Given the description of an element on the screen output the (x, y) to click on. 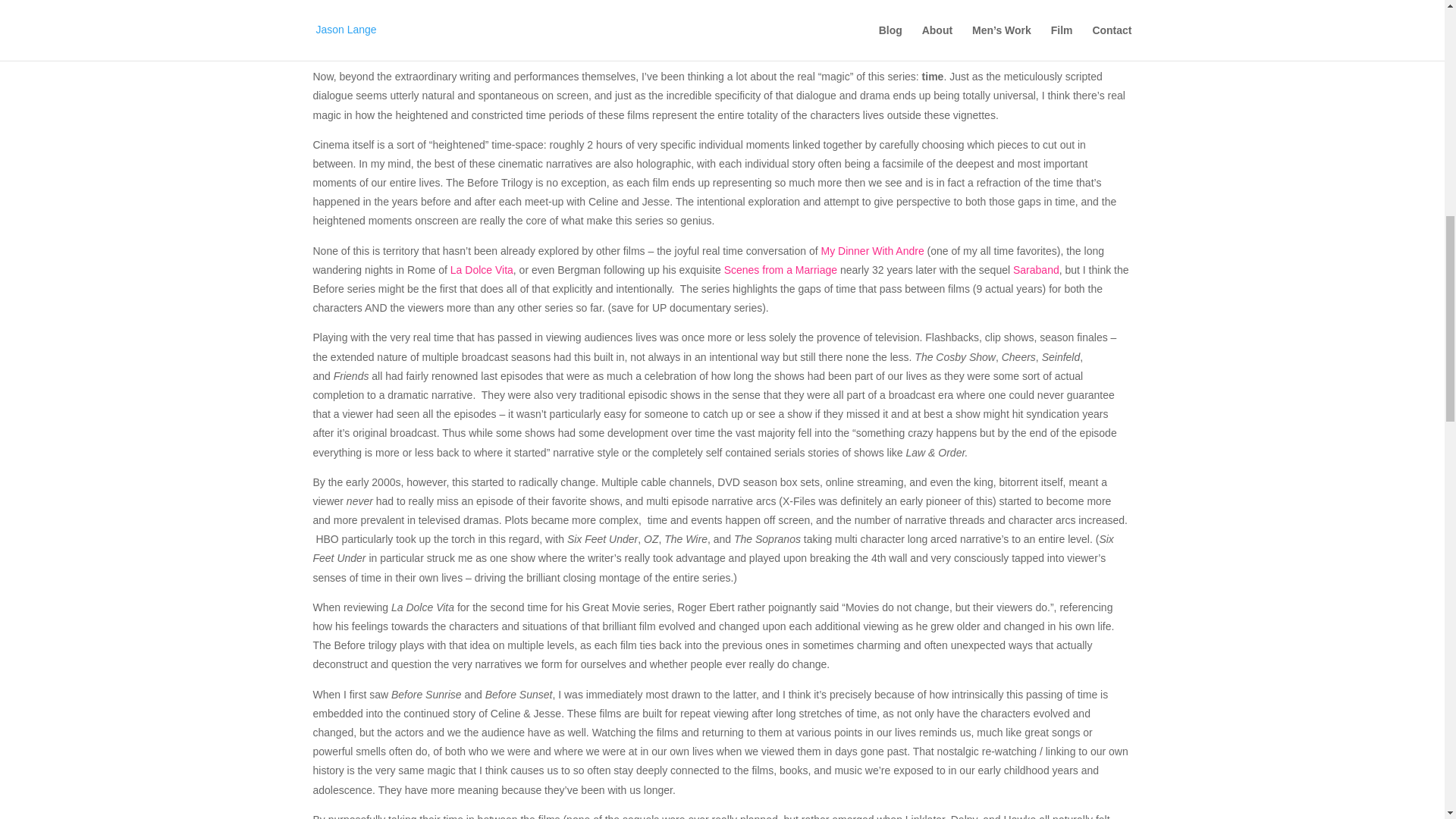
My Dinner With Andre (872, 250)
Scenes from a Marriage (780, 269)
La Dolce Vita (481, 269)
Saraband (1036, 269)
